Given the description of an element on the screen output the (x, y) to click on. 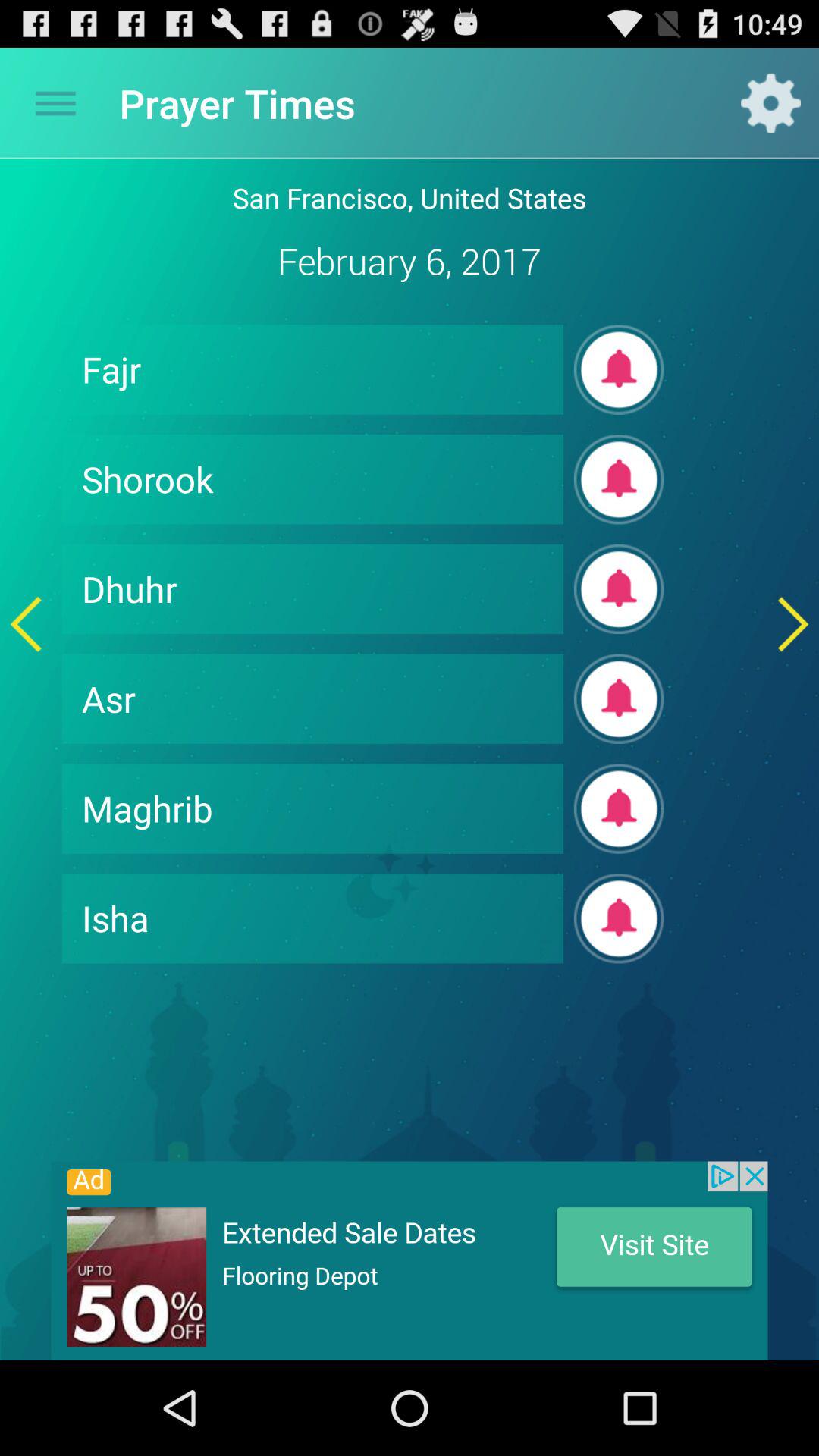
click to the subscribe (618, 479)
